Given the description of an element on the screen output the (x, y) to click on. 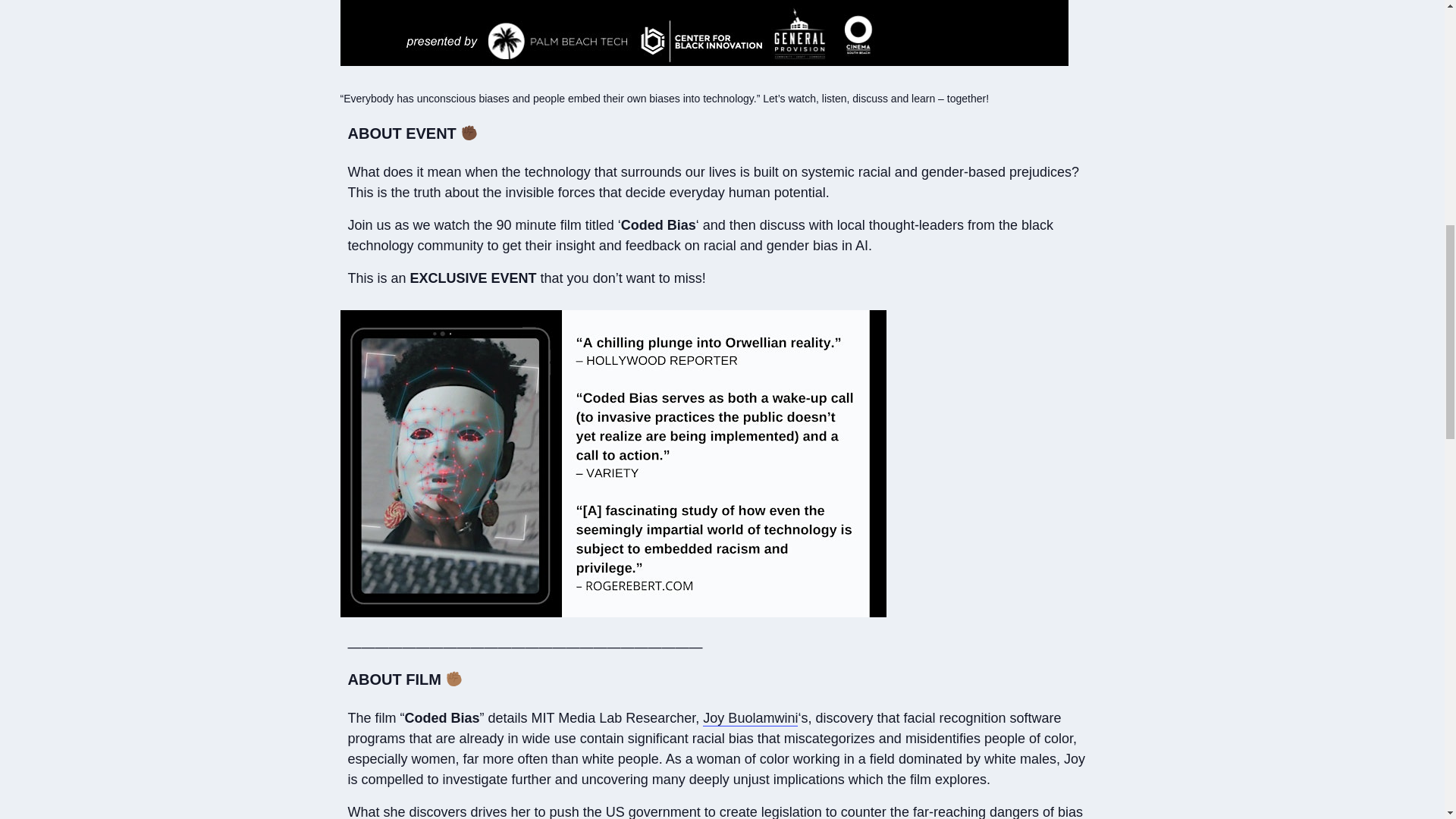
Joy Buolamwini (750, 718)
